Given the description of an element on the screen output the (x, y) to click on. 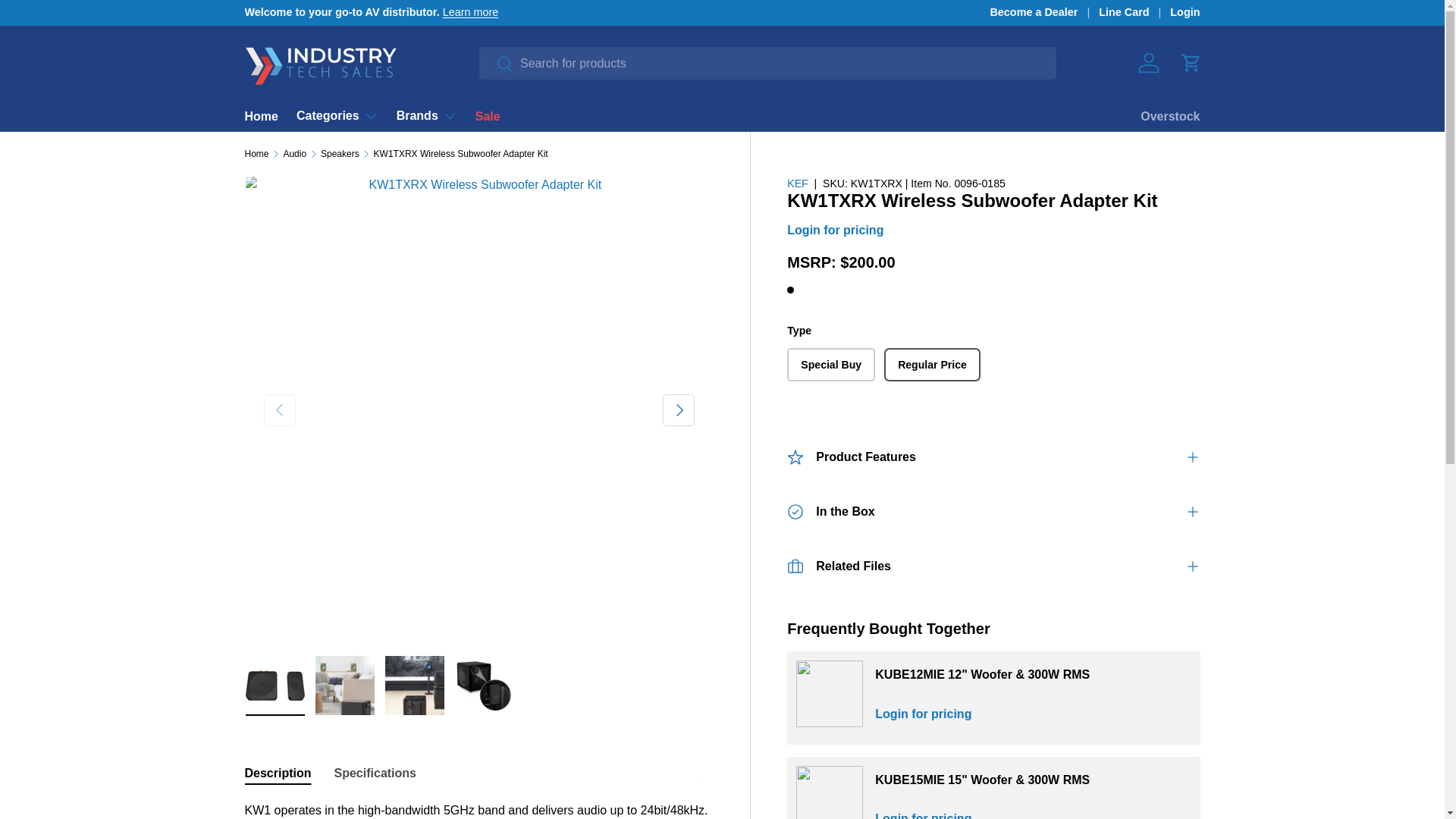
Login (1184, 12)
Download now (1137, 11)
Skip to content (69, 21)
Become a Dealer (1044, 12)
Log in (1147, 62)
About (470, 11)
Learn more (470, 11)
Line Card (478, 773)
